Given the description of an element on the screen output the (x, y) to click on. 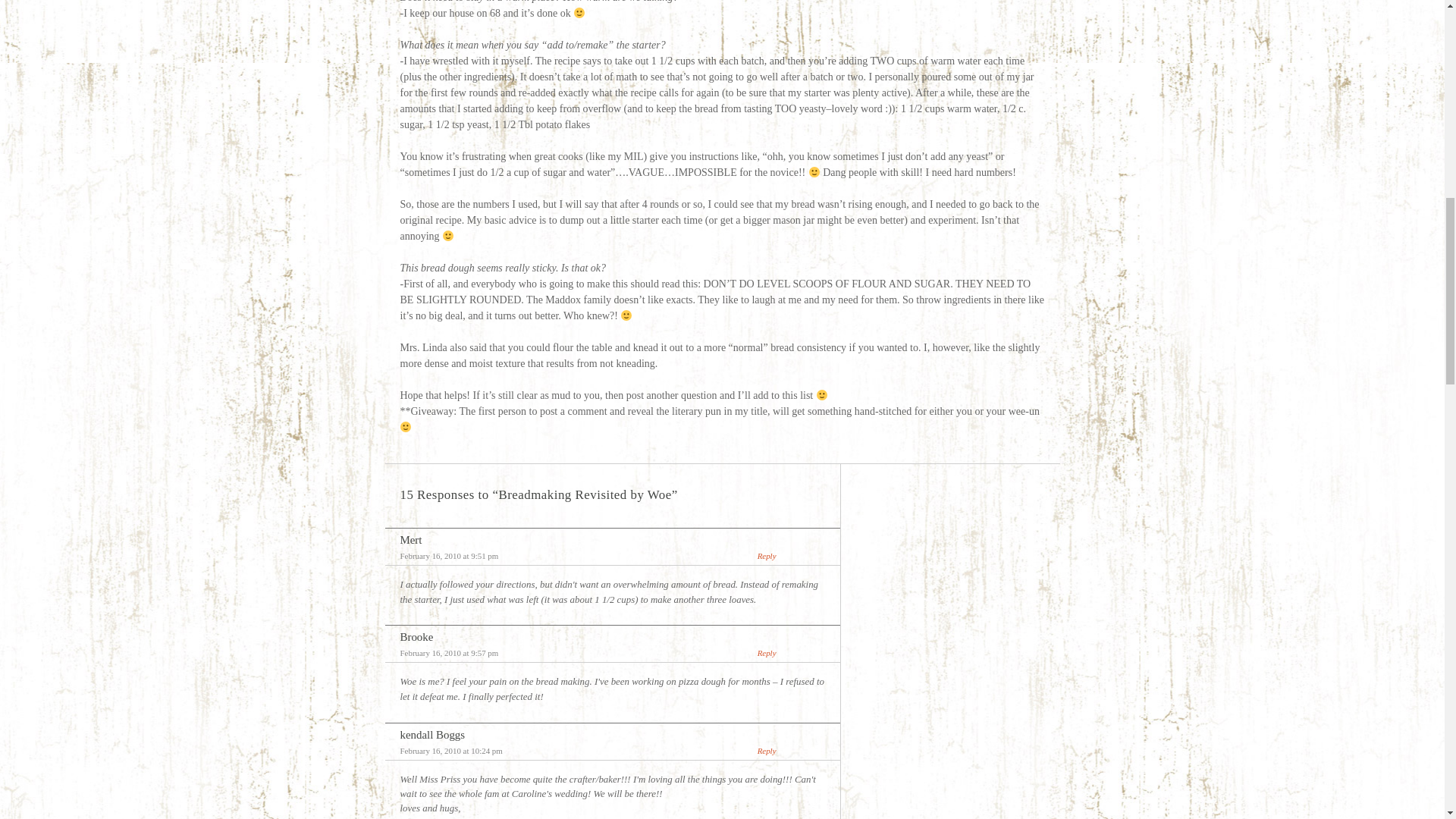
Reply (766, 653)
February 16, 2010 at 9:51 pm (449, 555)
February 16, 2010 at 10:24 pm (451, 750)
Reply (766, 750)
February 16, 2010 at 9:57 pm (449, 652)
Reply (766, 555)
